Given the description of an element on the screen output the (x, y) to click on. 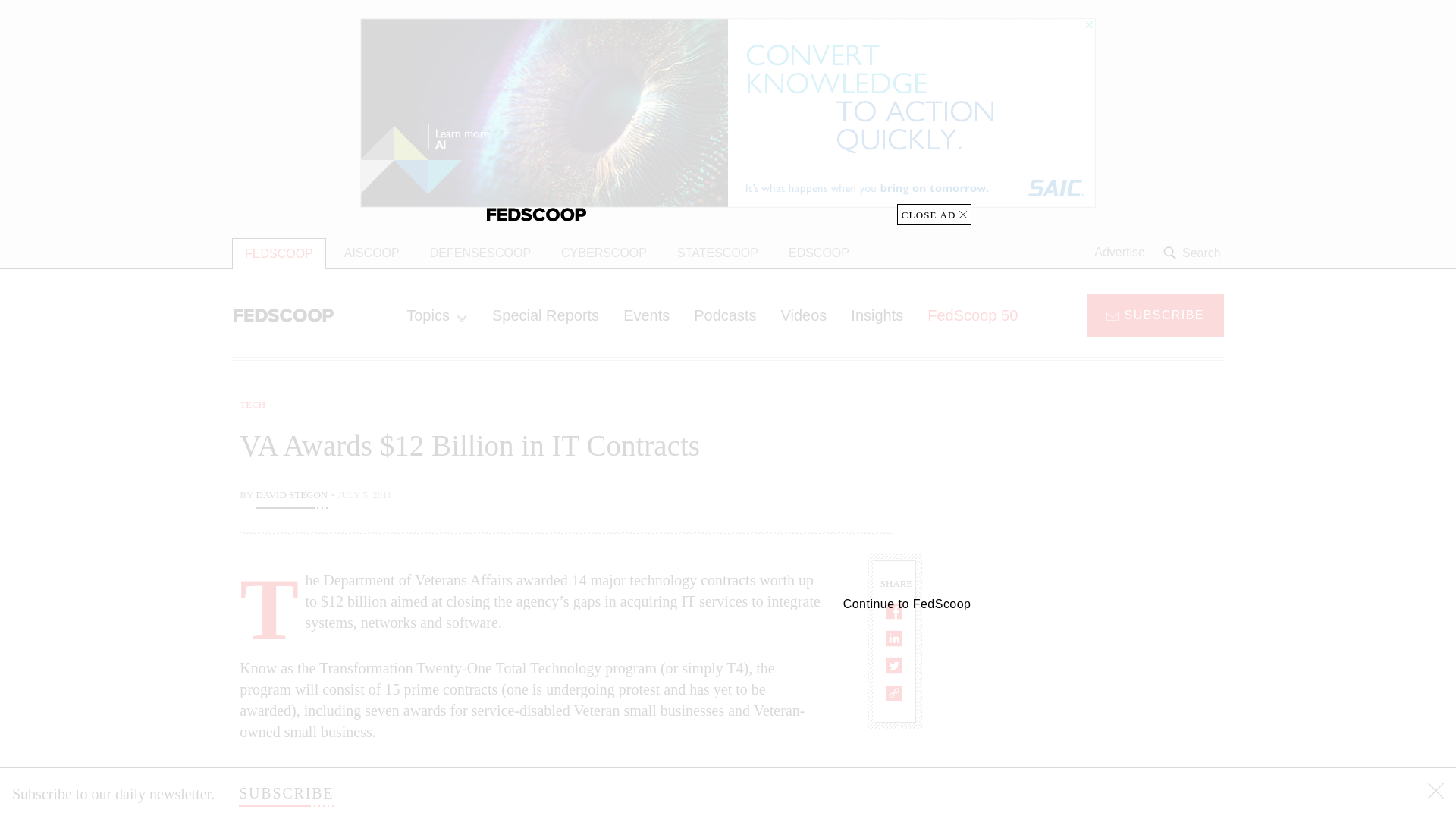
Search (1193, 252)
EDSCOOP (818, 253)
SUBSCRIBE (285, 793)
Insights (876, 315)
3rd party ad content (1101, 706)
STATESCOOP (717, 253)
Topics (437, 315)
Events (646, 315)
David Stegon (292, 496)
AISCOOP (371, 253)
Podcasts (724, 315)
Advertise (1119, 252)
